Given the description of an element on the screen output the (x, y) to click on. 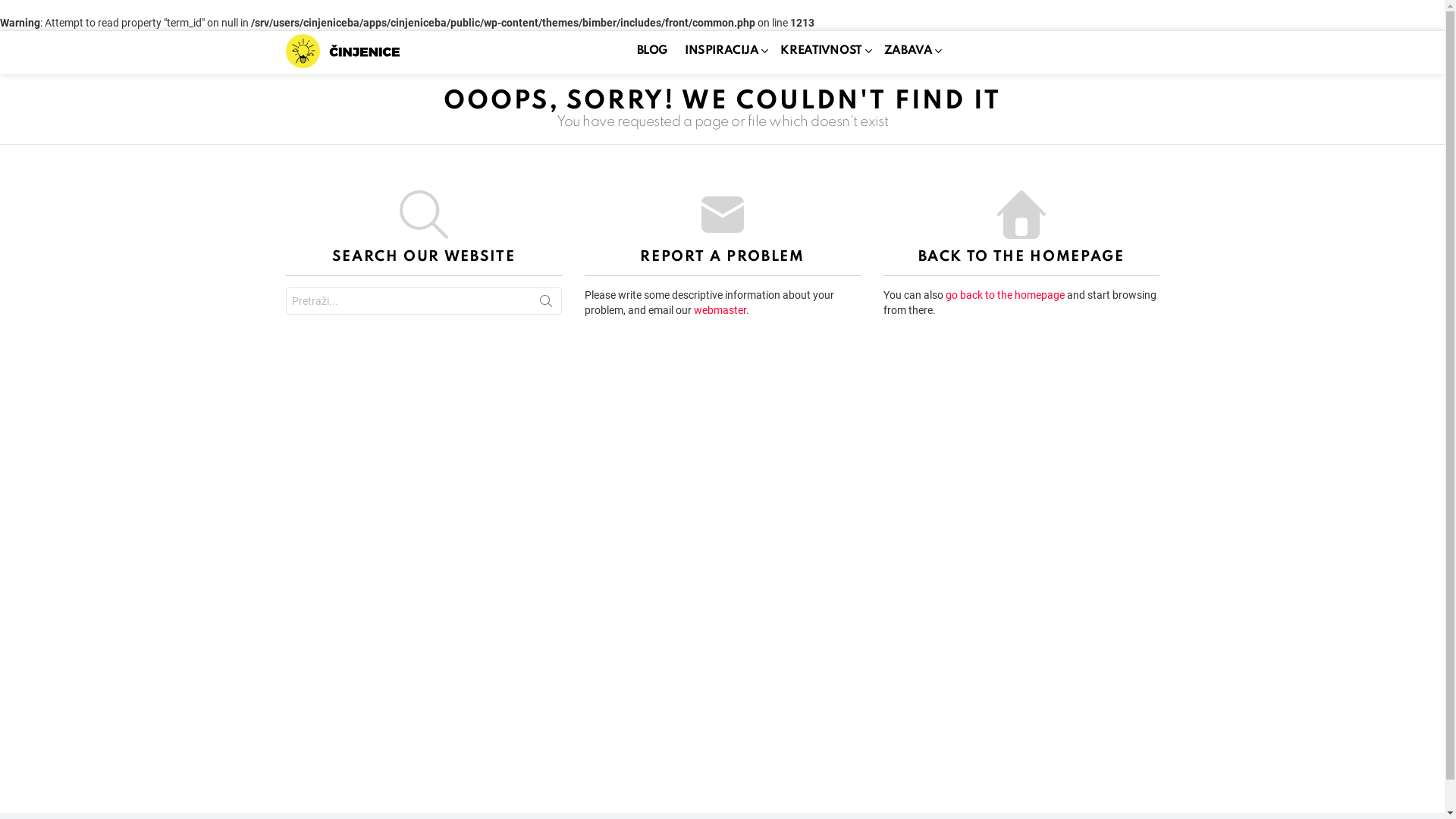
BLOG Element type: text (651, 50)
SEARCH Element type: text (545, 303)
ZABAVA Element type: text (910, 50)
Search for: Element type: hover (423, 300)
INSPIRACIJA Element type: text (723, 50)
go back to the homepage Element type: text (1003, 294)
webmaster Element type: text (719, 310)
KREATIVNOST Element type: text (822, 50)
